Given the description of an element on the screen output the (x, y) to click on. 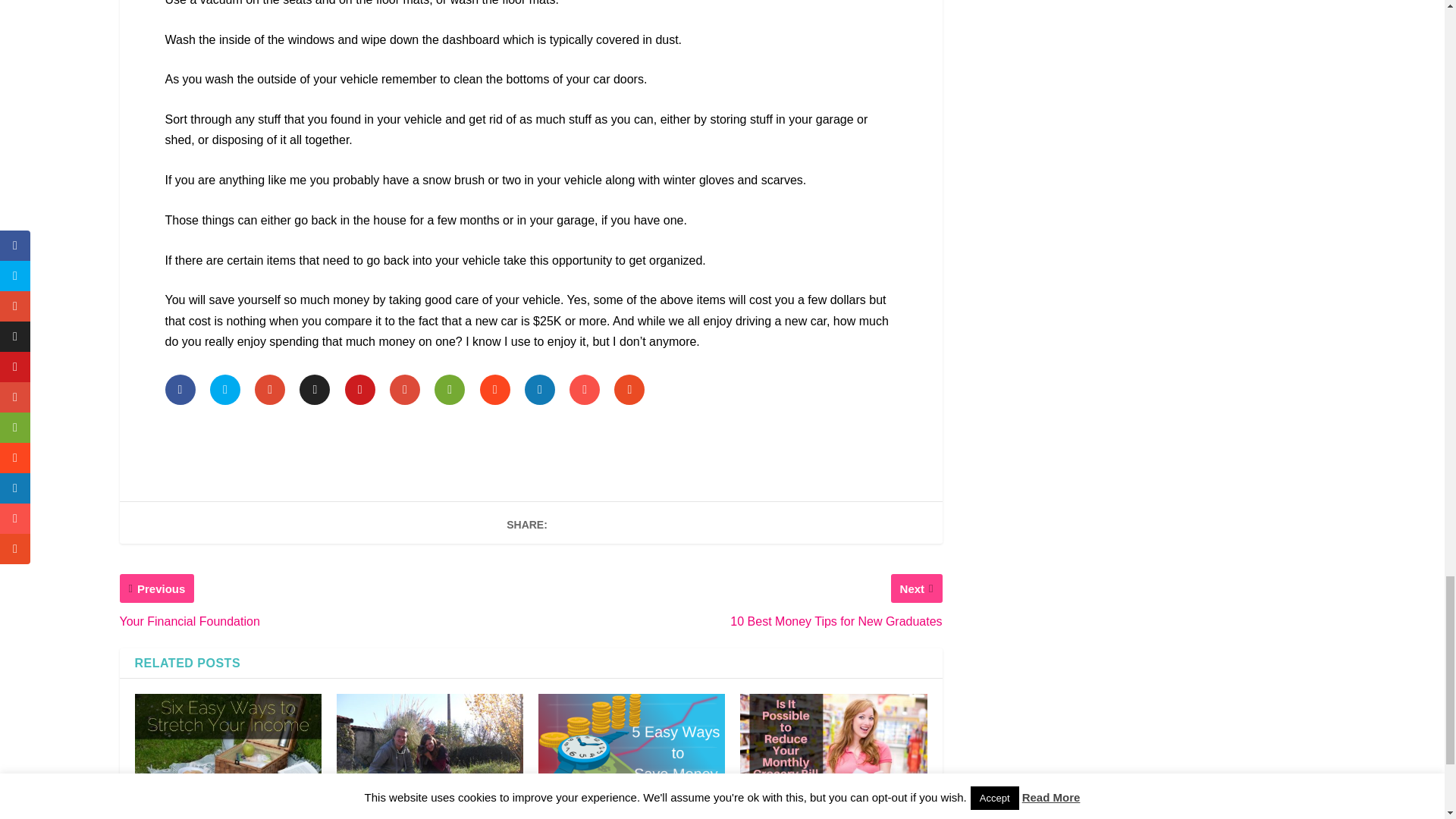
5 Easy Ways to Save Money (631, 743)
How to Live Rent Free in Canada or Abroad (429, 749)
Six Easy Ways to Stretch Your Income (228, 749)
